Given the description of an element on the screen output the (x, y) to click on. 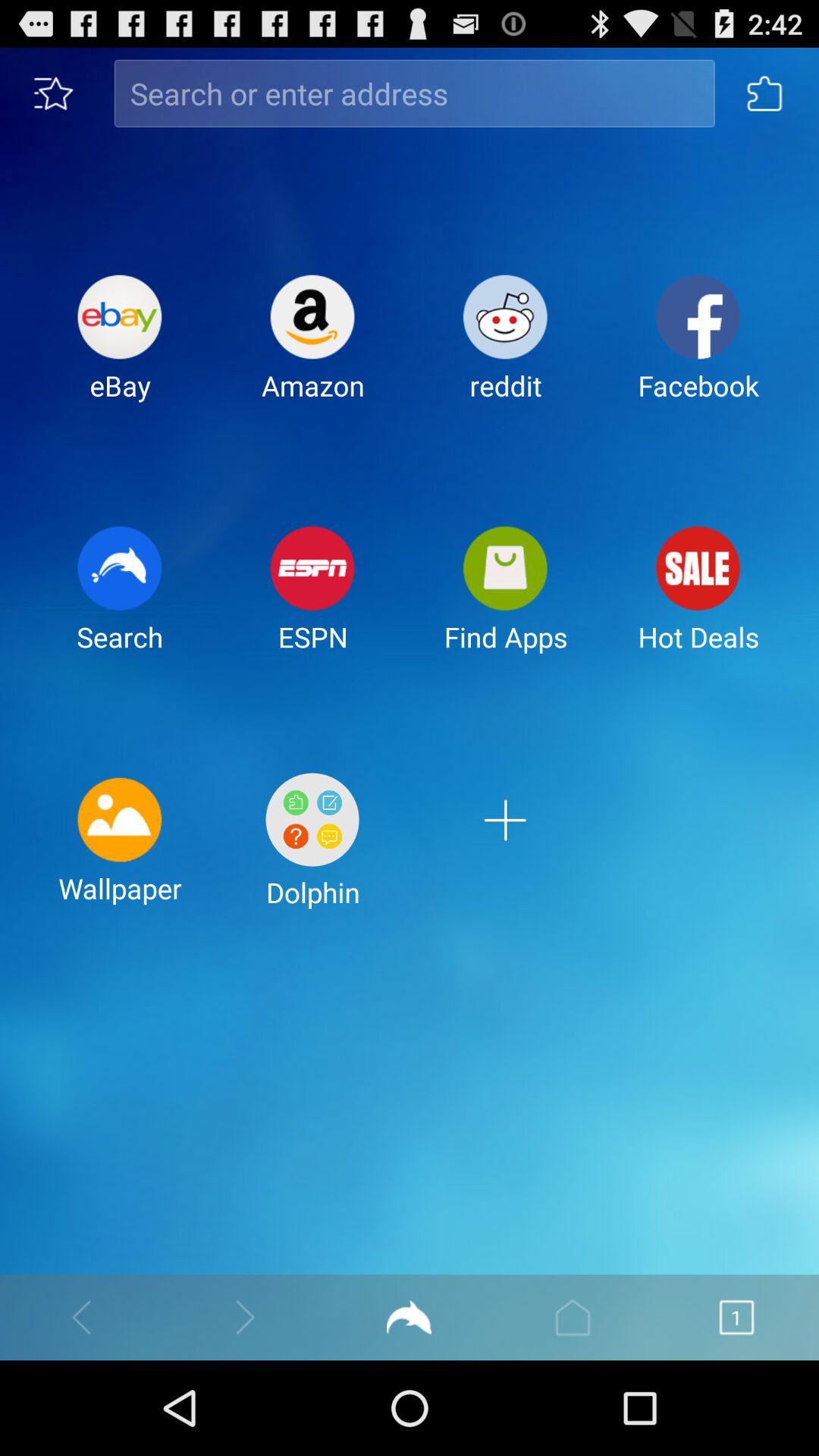
open the icon next to espn (119, 601)
